Given the description of an element on the screen output the (x, y) to click on. 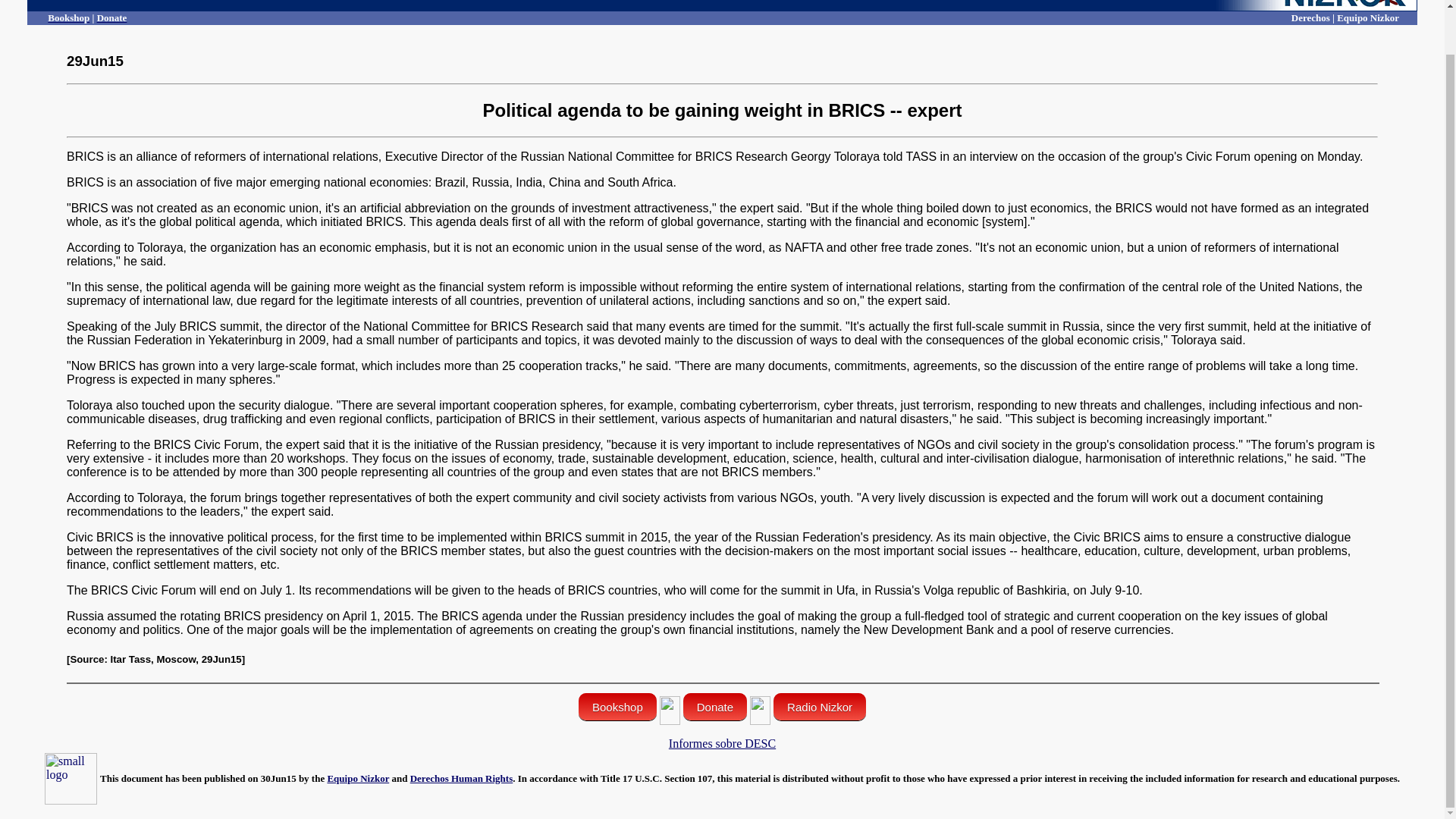
Derechos Human Rights (461, 778)
Equipo Nizkor (357, 778)
Informes sobre DESC (722, 743)
Bookshop (68, 17)
Radio Nizkor (819, 706)
Donate (714, 706)
Bookshop (617, 706)
Donate (112, 17)
